Given the description of an element on the screen output the (x, y) to click on. 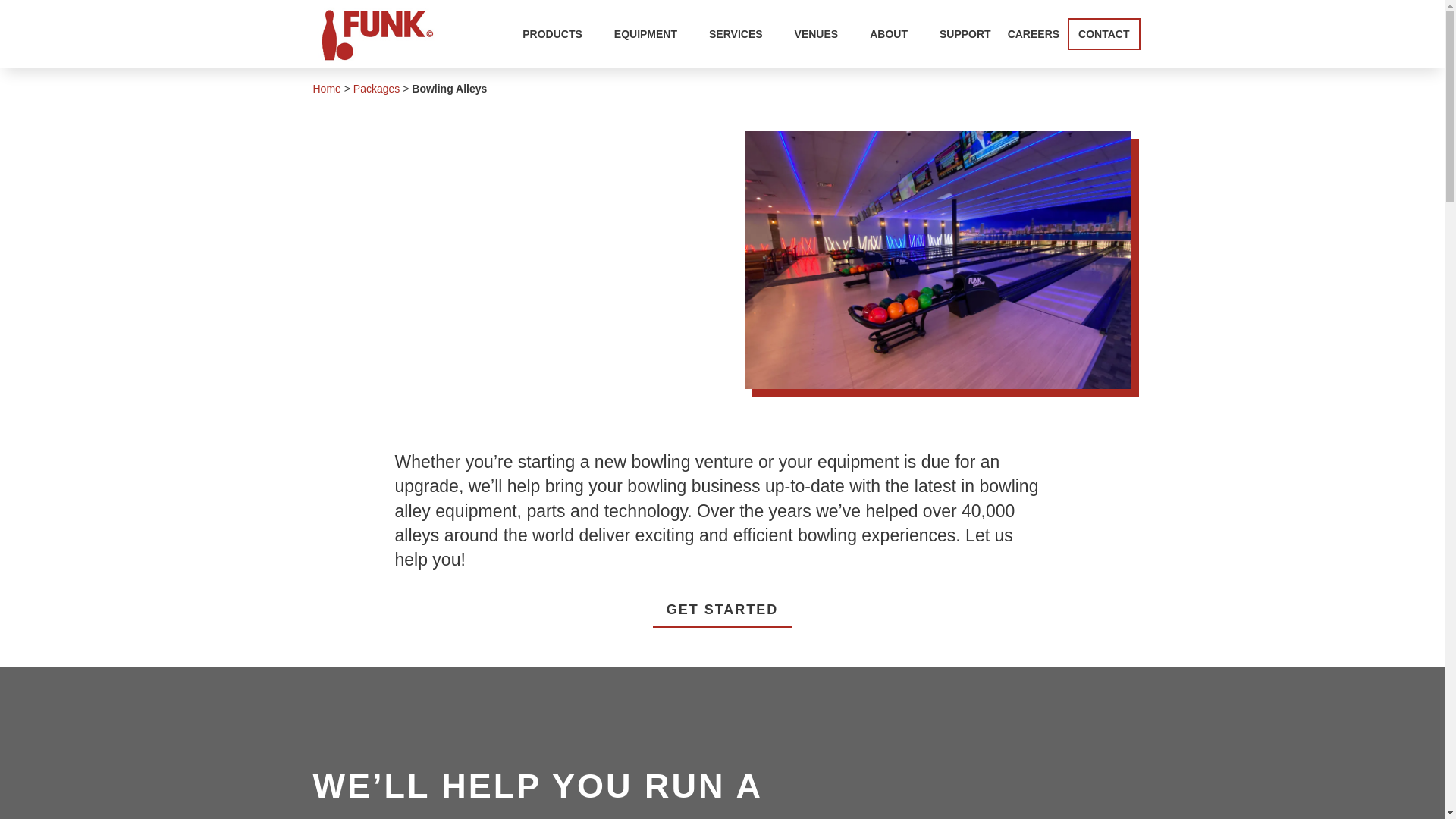
ABOUT (896, 34)
Follow on Youtube (1118, 49)
EQUIPMENT (653, 34)
GET STARTED (722, 609)
Follow on Facebook (1028, 49)
CONTACT (1103, 33)
CAREERS (1033, 34)
Packages (375, 88)
Follow on Instagram (1058, 49)
PRODUCTS (559, 34)
VENUES (823, 34)
Home (326, 88)
SERVICES (743, 34)
Follow on LinkedIn (1088, 49)
SUPPORT (965, 34)
